Given the description of an element on the screen output the (x, y) to click on. 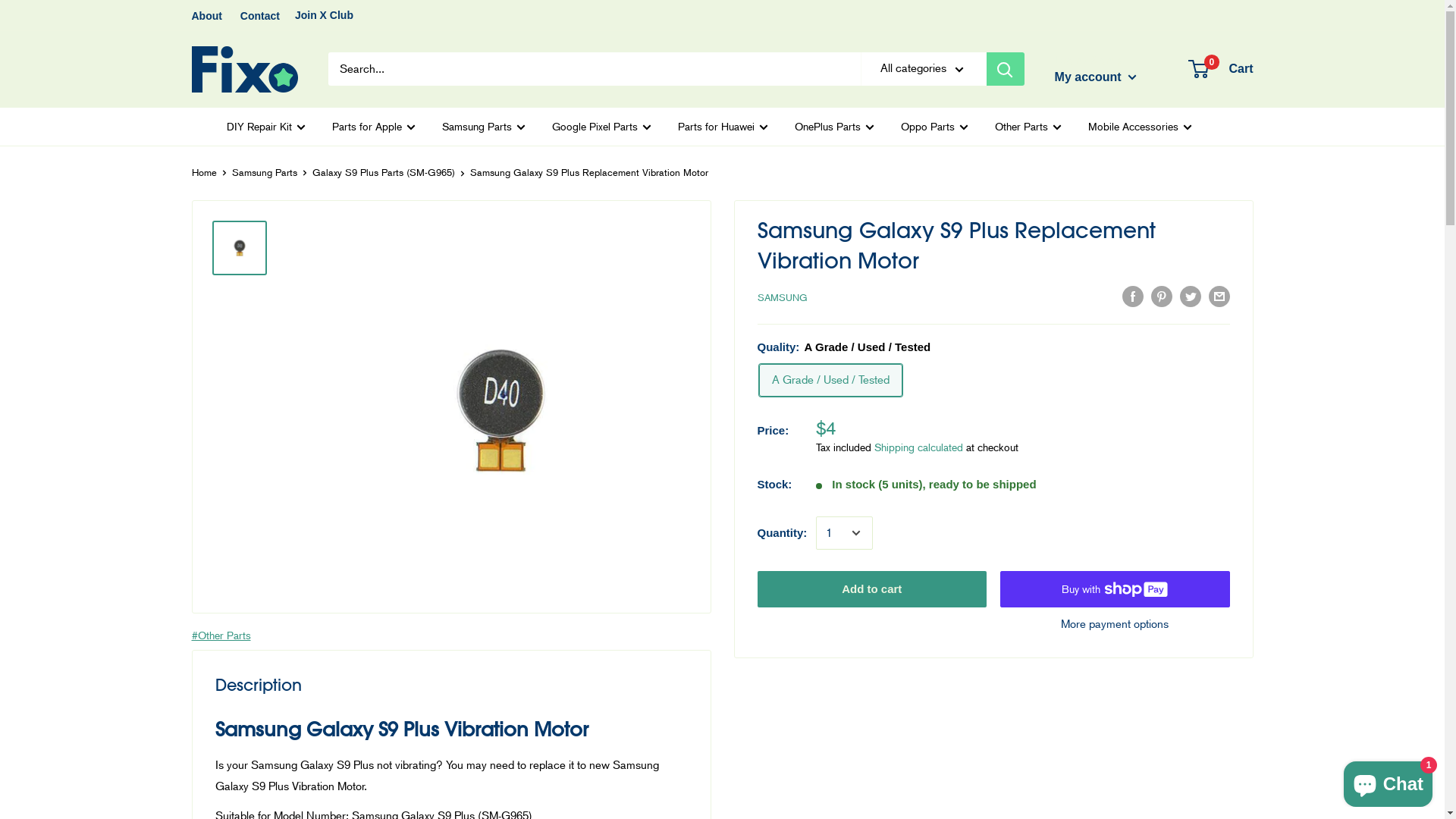
About Element type: text (206, 15)
Contact Element type: text (259, 15)
Add to cart Element type: text (871, 589)
Google Pixel Parts Element type: text (601, 126)
Galaxy S9 Plus Parts (SM-G965) Element type: text (383, 172)
Shopify online store chat Element type: hover (1388, 780)
More payment options Element type: text (1115, 623)
Parts for Apple Element type: text (373, 126)
SAMSUNG Element type: text (781, 297)
Samsung Parts Element type: text (482, 126)
DIY Repair Kit Element type: text (264, 126)
Parts for Huawei Element type: text (722, 126)
Join X Club Element type: text (323, 15)
Other Parts Element type: text (1027, 126)
My account Element type: text (1095, 76)
Home Element type: text (203, 172)
Shipping calculated Element type: text (918, 447)
OnePlus Parts Element type: text (834, 126)
#Other Parts Element type: text (220, 635)
Samsung Parts Element type: text (264, 172)
0
Cart Element type: text (1220, 68)
Oppo Parts Element type: text (934, 126)
Mobile Accessories Element type: text (1139, 126)
